Given the description of an element on the screen output the (x, y) to click on. 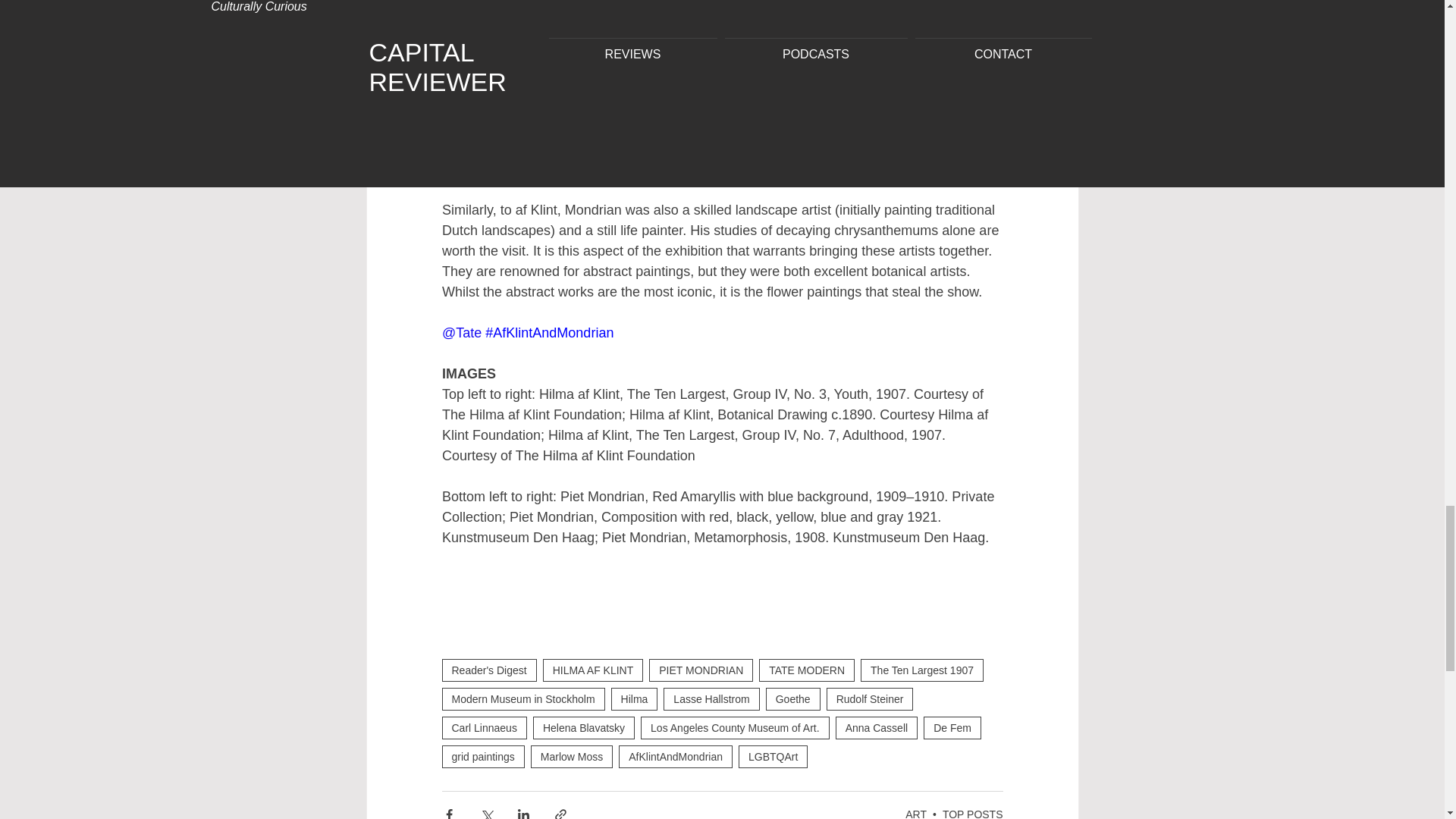
Anna Cassell (876, 727)
Reader's Digest (488, 670)
The Ten Largest 1907 (922, 670)
LGBTQArt (773, 756)
Marlow Moss (571, 756)
TATE MODERN (806, 670)
Los Angeles County Museum of Art. (734, 727)
Carl Linnaeus (483, 727)
grid paintings (482, 756)
Hilma (634, 698)
